Given the description of an element on the screen output the (x, y) to click on. 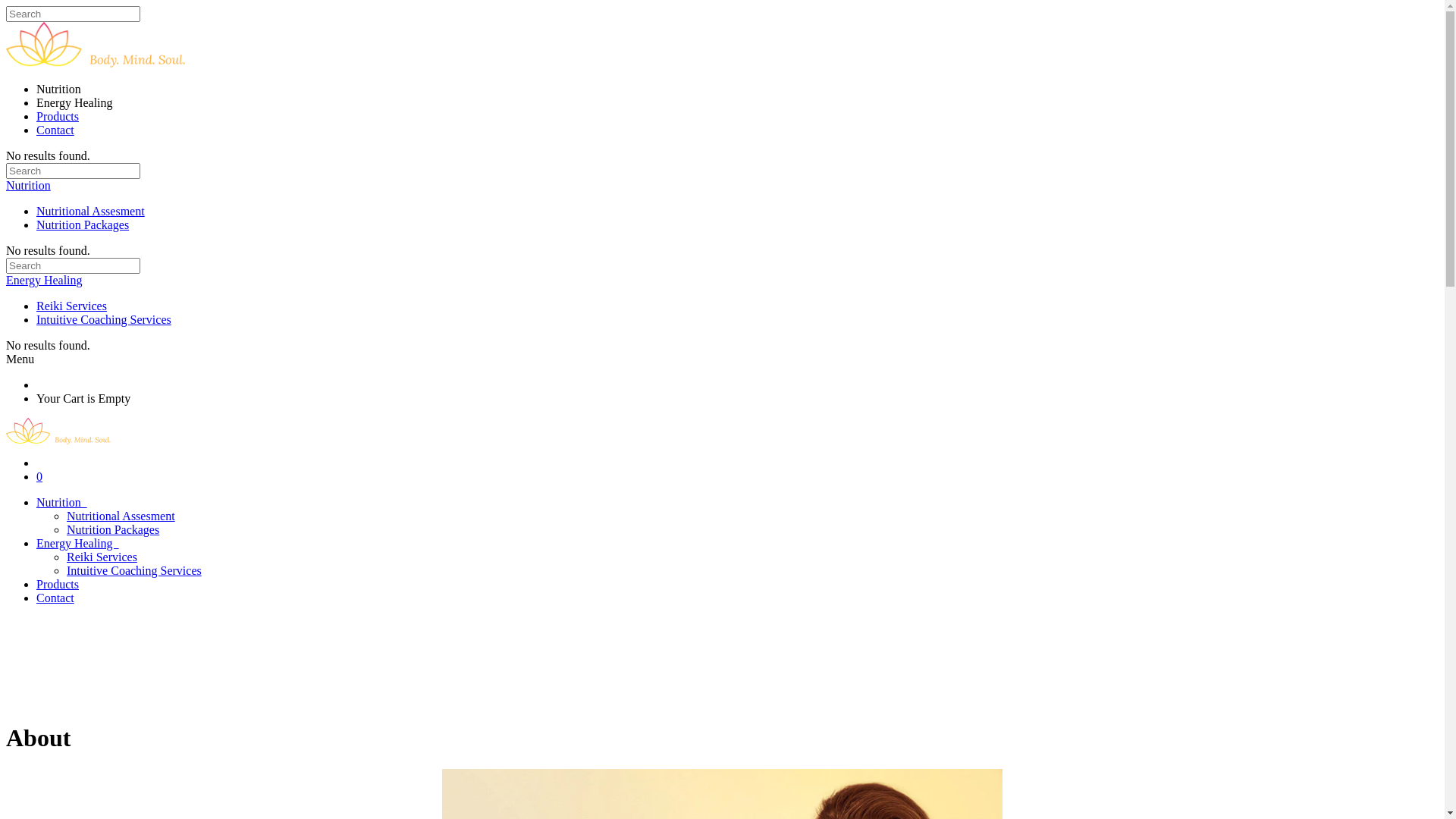
Products Element type: text (57, 115)
Reiki Services Element type: text (71, 305)
Intuitive Coaching Services Element type: text (103, 319)
Menu Element type: text (20, 358)
Nutrition Element type: text (28, 184)
Energy Healing Element type: text (44, 279)
Contact Element type: text (55, 597)
divine-healing-bms Element type: hover (722, 430)
Reiki Services Element type: text (101, 556)
0 Element type: text (39, 476)
Intuitive Coaching Services Element type: text (133, 570)
Nutrition Packages Element type: text (112, 529)
Nutrition   Element type: text (61, 501)
Energy Healing   Element type: text (77, 542)
Contact Element type: text (55, 129)
Nutrition Packages Element type: text (82, 224)
Nutritional Assesment Element type: text (120, 515)
Nutritional Assesment Element type: text (90, 210)
Products Element type: text (57, 583)
